Given the description of an element on the screen output the (x, y) to click on. 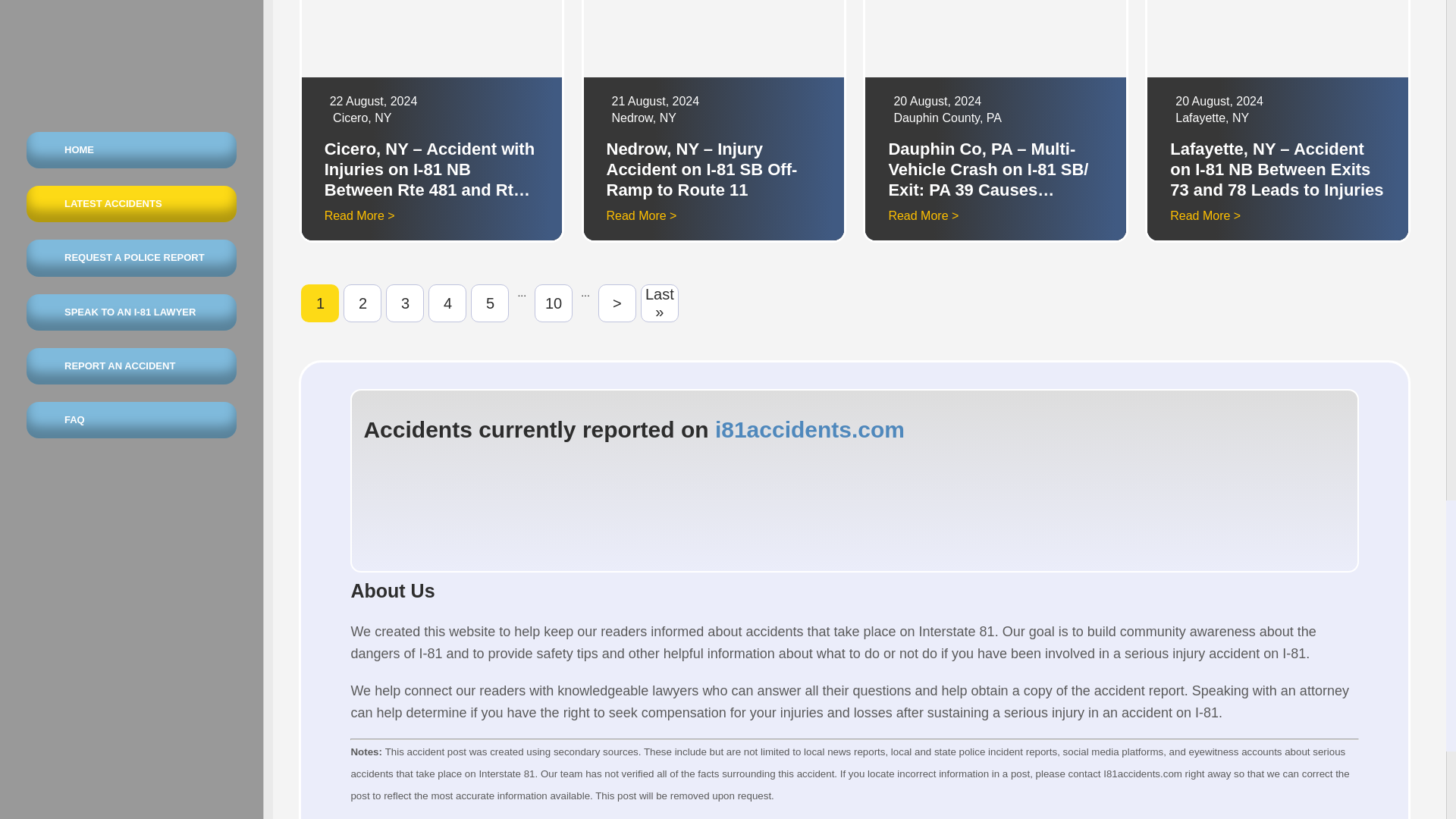
Page 3 (404, 303)
i81accidents.com (809, 429)
5 (489, 303)
Page 4 (446, 303)
10 (553, 303)
4 (446, 303)
2 (362, 303)
3 (404, 303)
Page 10 (553, 303)
Page 5 (489, 303)
